Given the description of an element on the screen output the (x, y) to click on. 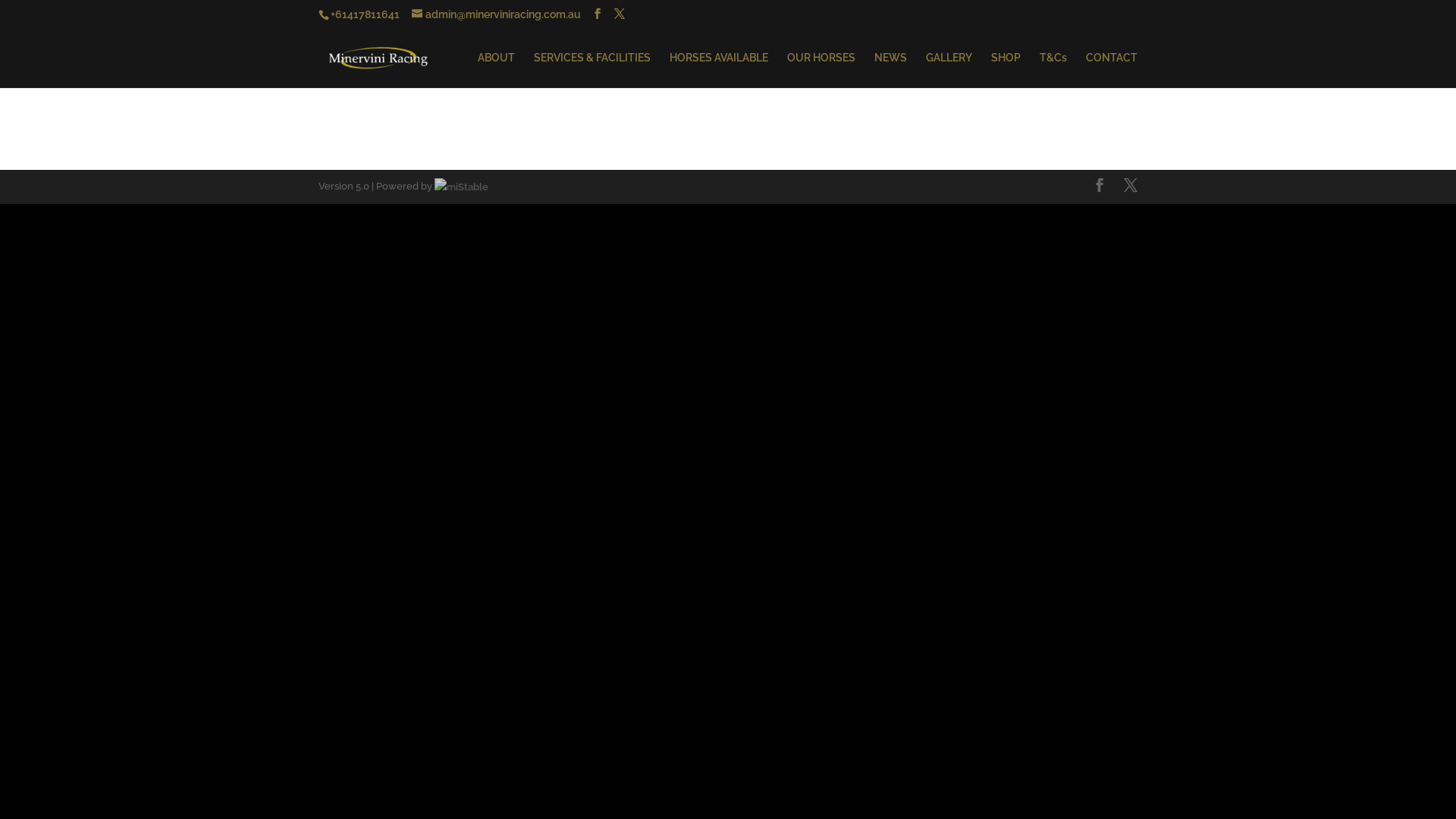
admin@minerviniracing.com.au Element type: text (495, 13)
Horse Management Software Element type: hover (461, 185)
T&Cs Element type: text (1052, 69)
ABOUT Element type: text (495, 69)
HORSES AVAILABLE Element type: text (718, 69)
SERVICES & FACILITIES Element type: text (591, 69)
OUR HORSES Element type: text (821, 69)
CONTACT Element type: text (1111, 69)
SHOP Element type: text (1005, 69)
GALLERY Element type: text (948, 69)
NEWS Element type: text (890, 69)
